Given the description of an element on the screen output the (x, y) to click on. 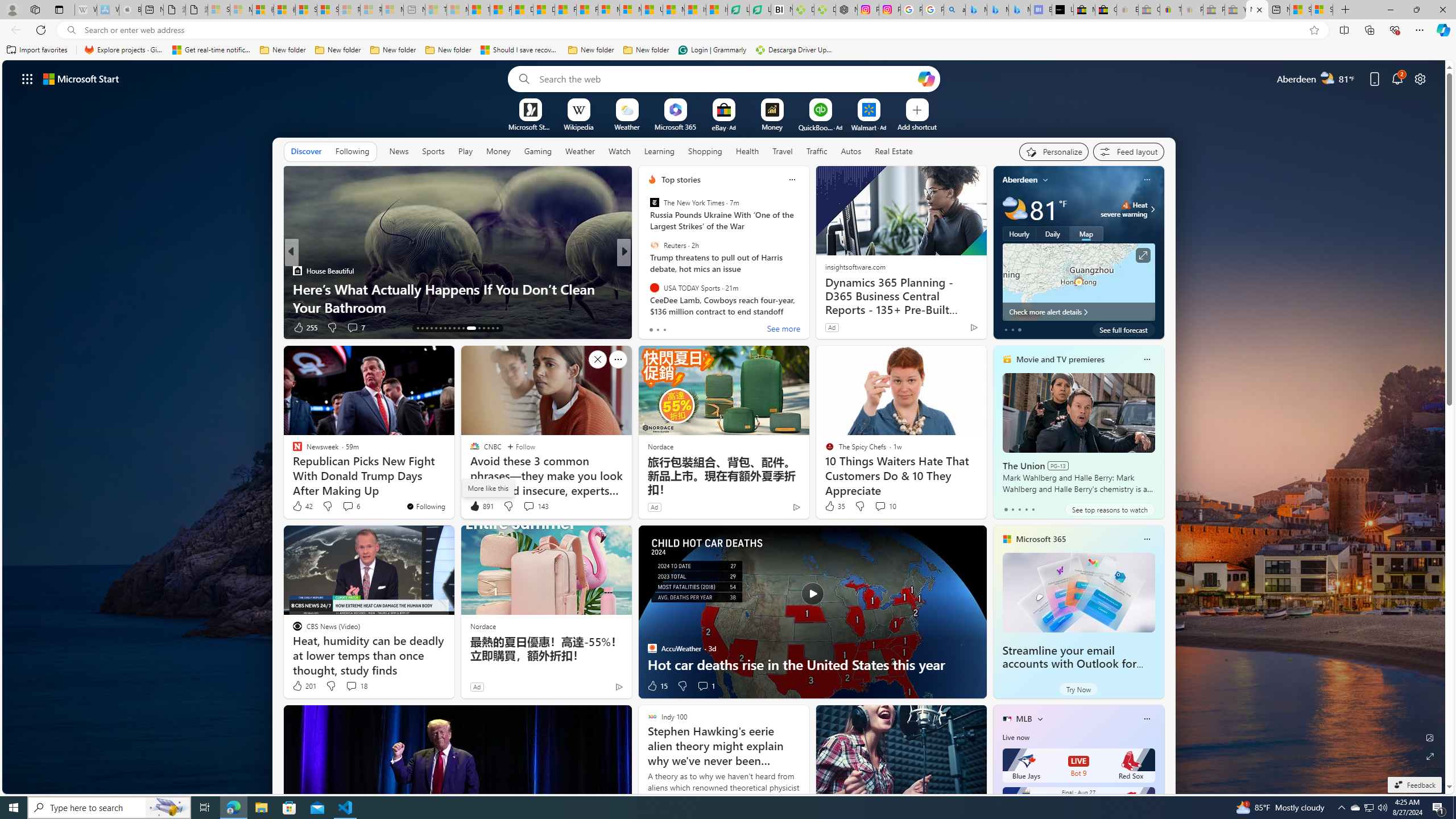
891 Like (480, 505)
3 Like (651, 327)
insightsoftware.com (854, 266)
255 Like (304, 327)
AutomationID: tab-13 (417, 328)
View comments 10 Comment (879, 505)
